Given the description of an element on the screen output the (x, y) to click on. 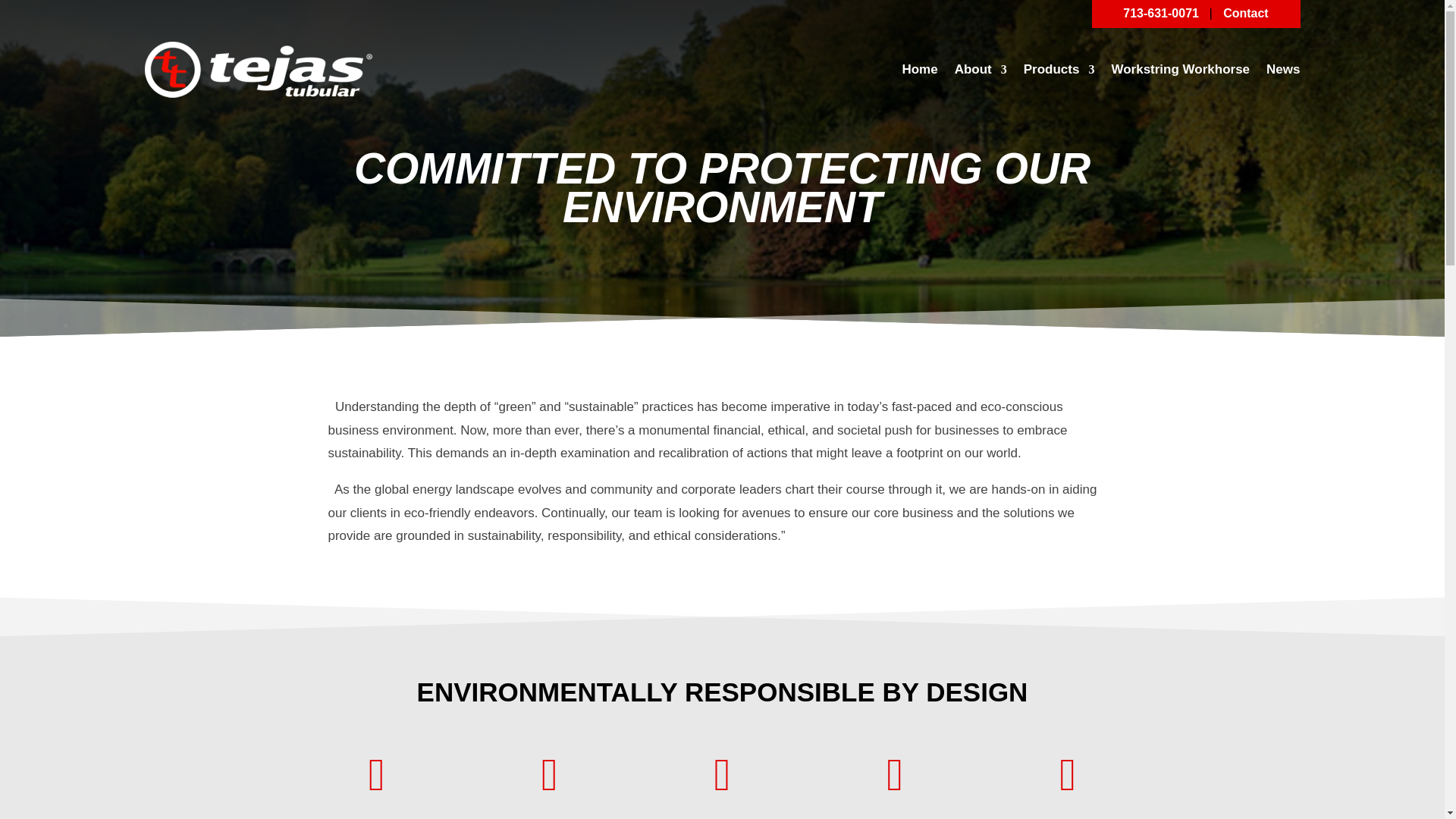
Contact (1245, 12)
Workstring Workhorse (1179, 69)
Products (1058, 69)
713-631-0071   (1163, 12)
About (981, 69)
